Given the description of an element on the screen output the (x, y) to click on. 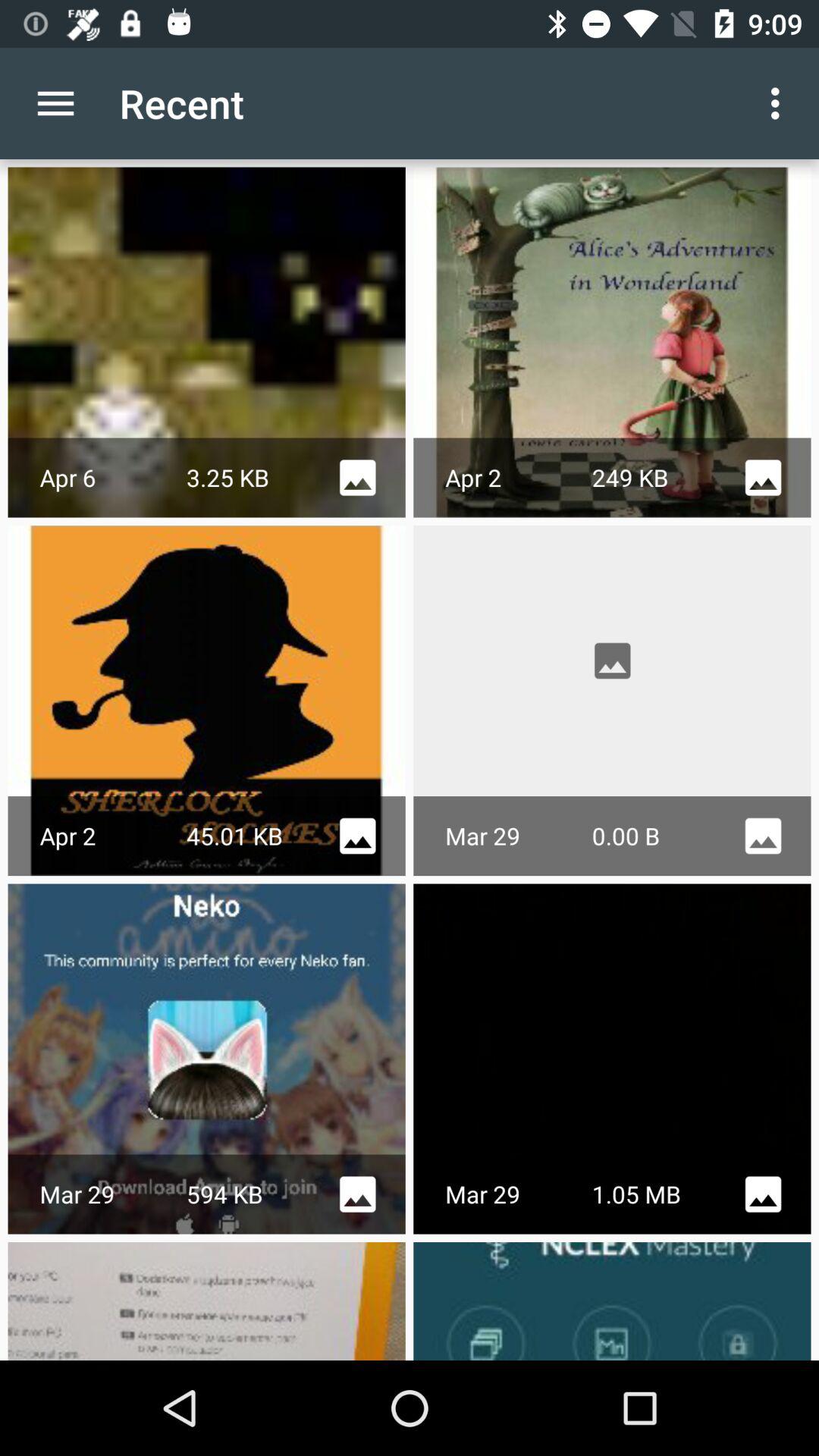
click icon next to the recent item (779, 103)
